Given the description of an element on the screen output the (x, y) to click on. 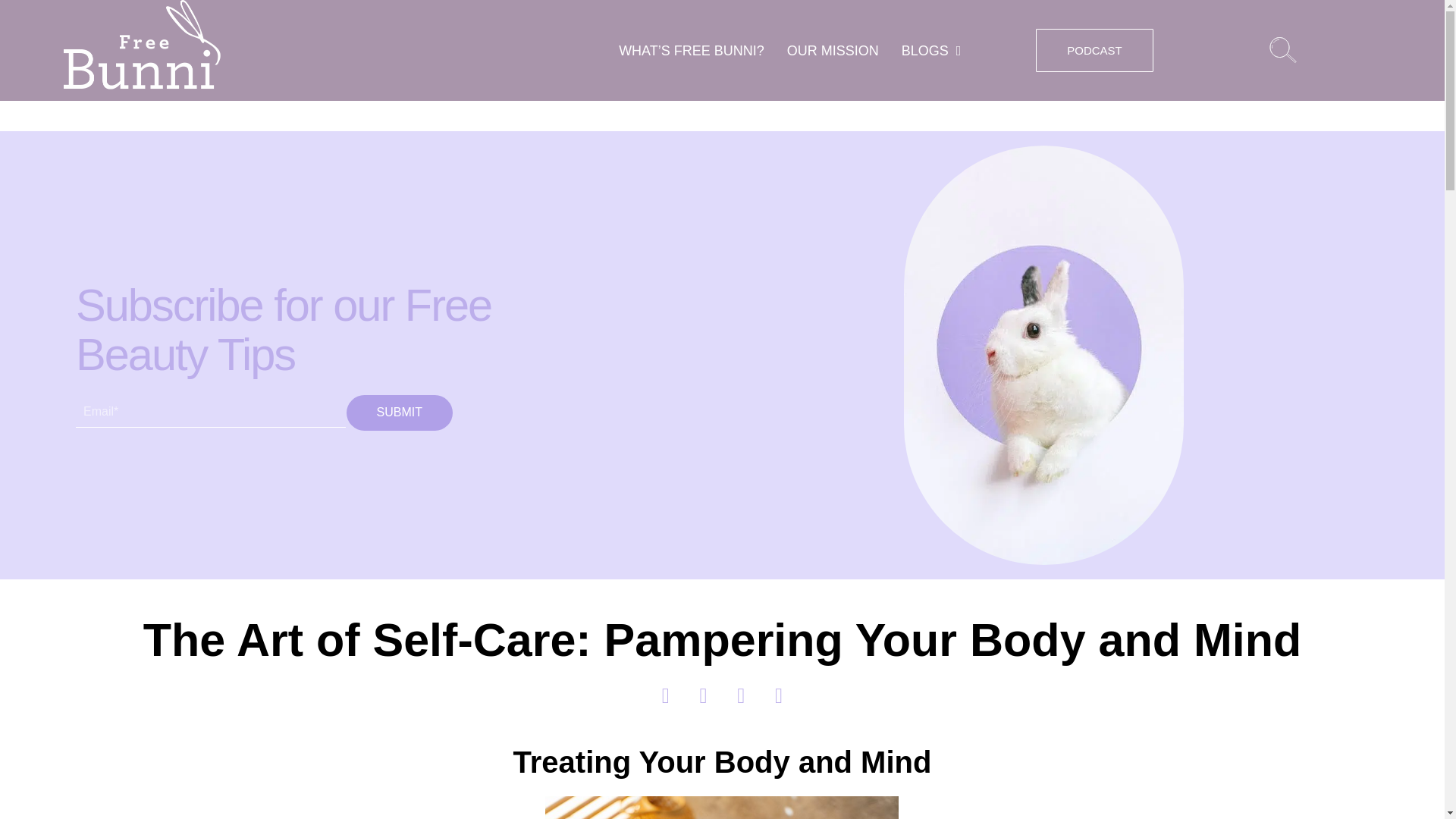
PODCAST (1094, 50)
BLOGS (930, 50)
OUR MISSION (832, 50)
